Given the description of an element on the screen output the (x, y) to click on. 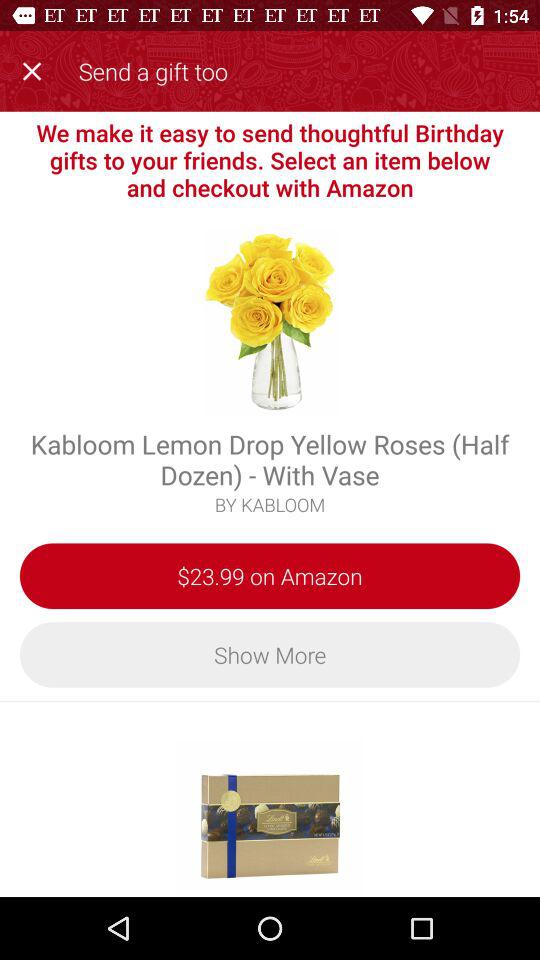
tap item next to the send a gift (36, 68)
